Given the description of an element on the screen output the (x, y) to click on. 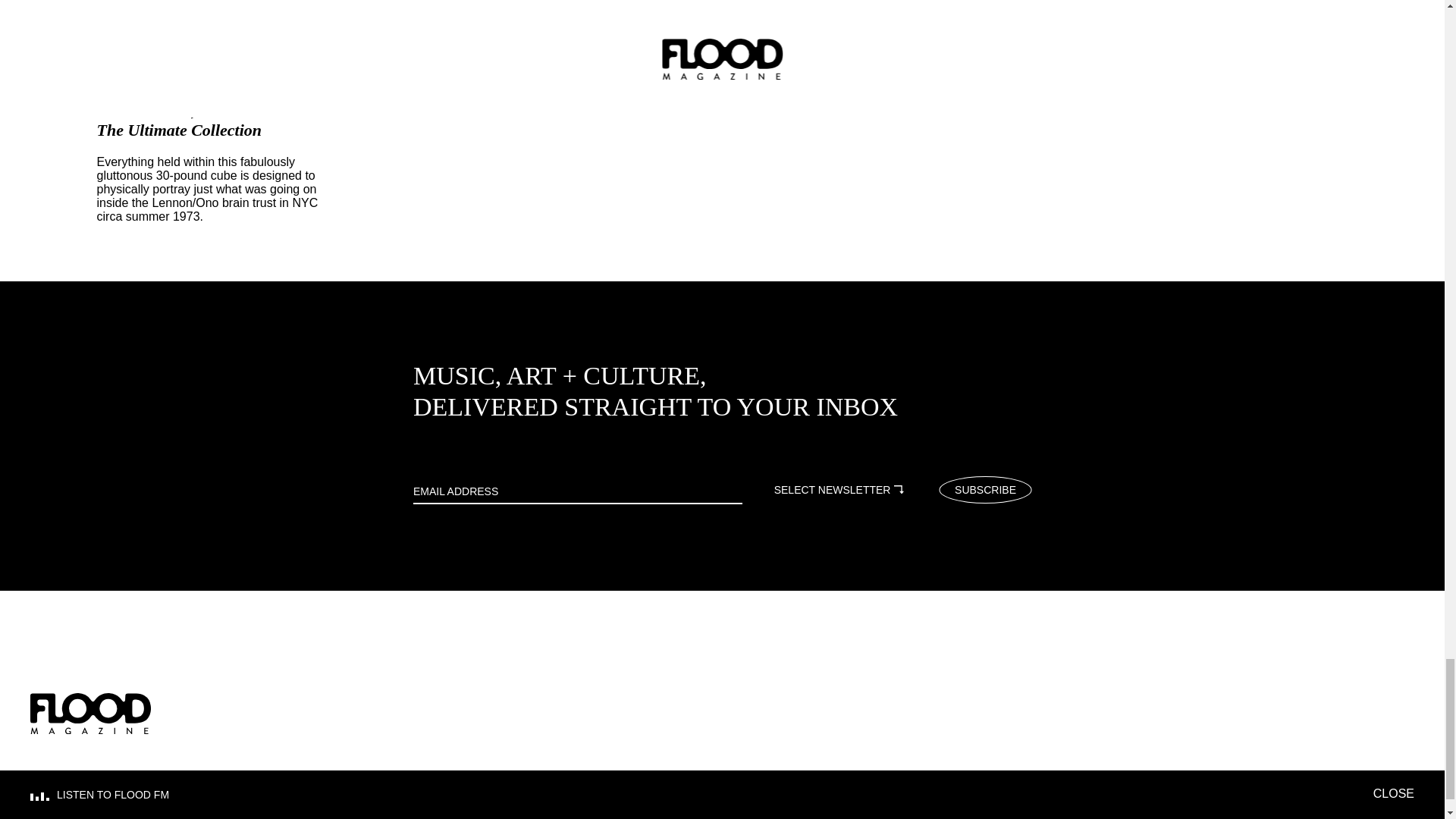
SUBSCRIBE (984, 489)
